Given the description of an element on the screen output the (x, y) to click on. 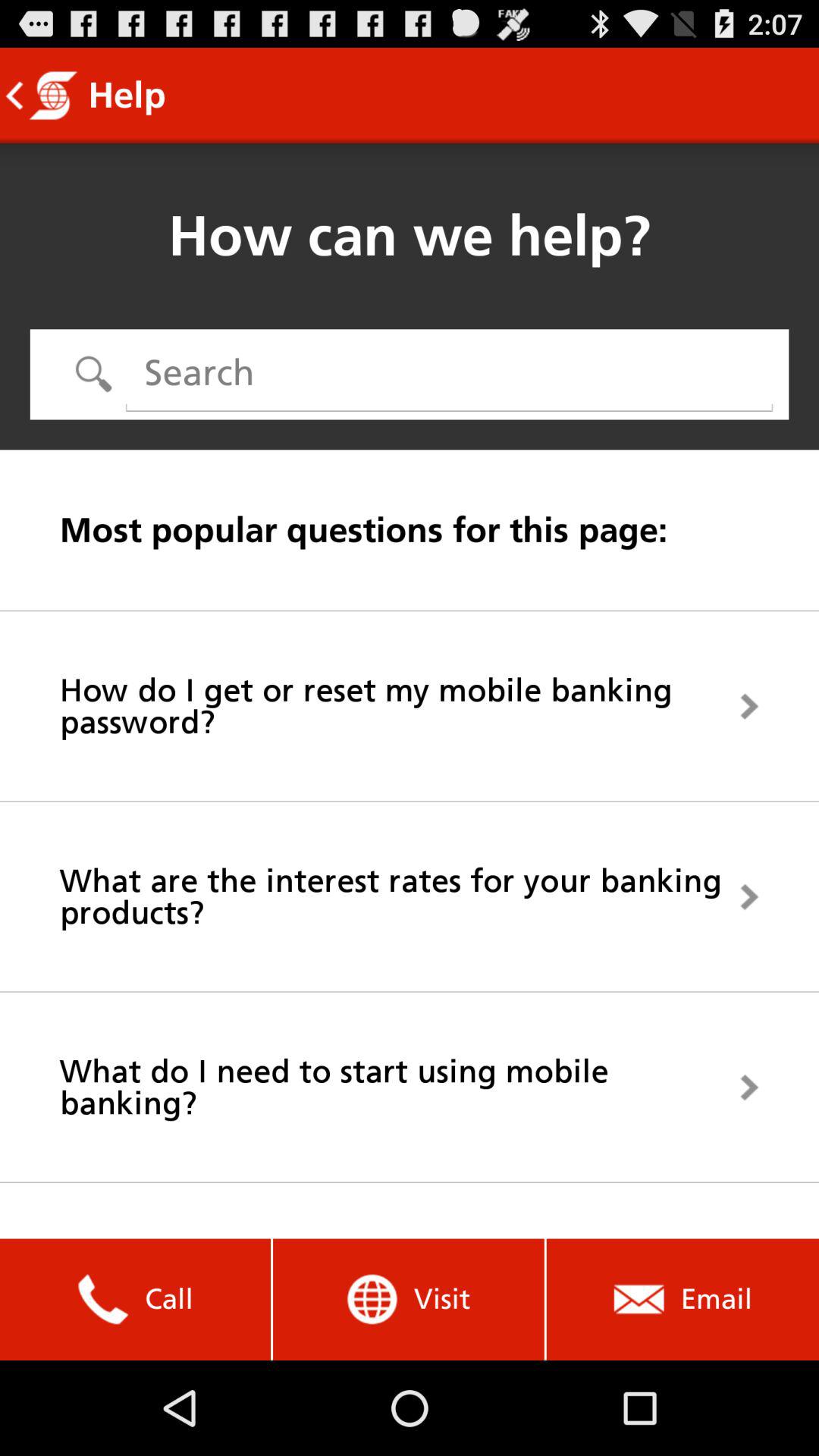
turn off the item below how can we item (449, 372)
